Given the description of an element on the screen output the (x, y) to click on. 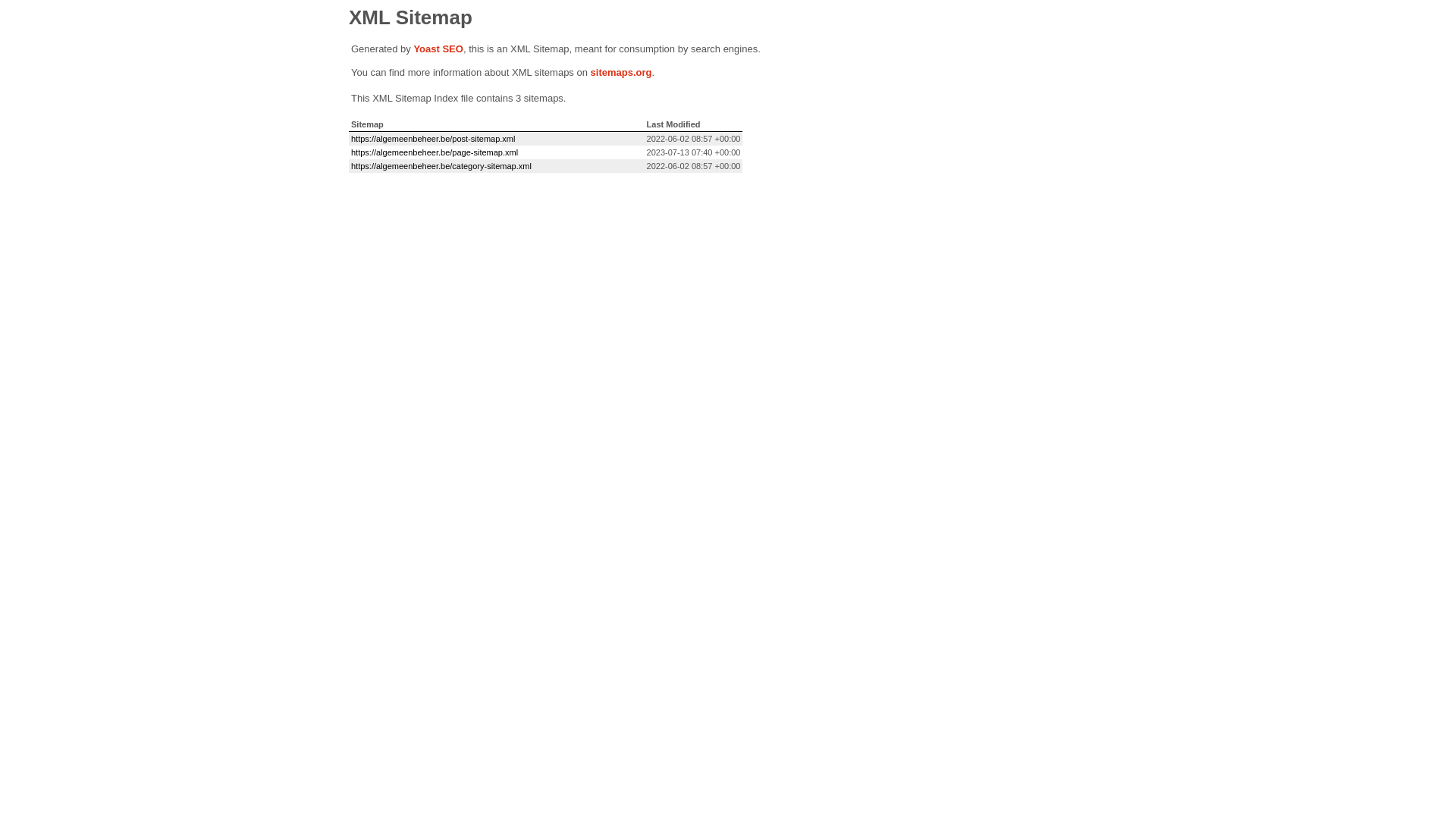
sitemaps.org Element type: text (621, 72)
https://algemeenbeheer.be/category-sitemap.xml Element type: text (441, 165)
https://algemeenbeheer.be/post-sitemap.xml Element type: text (432, 138)
https://algemeenbeheer.be/page-sitemap.xml Element type: text (434, 151)
Yoast SEO Element type: text (438, 48)
